Given the description of an element on the screen output the (x, y) to click on. 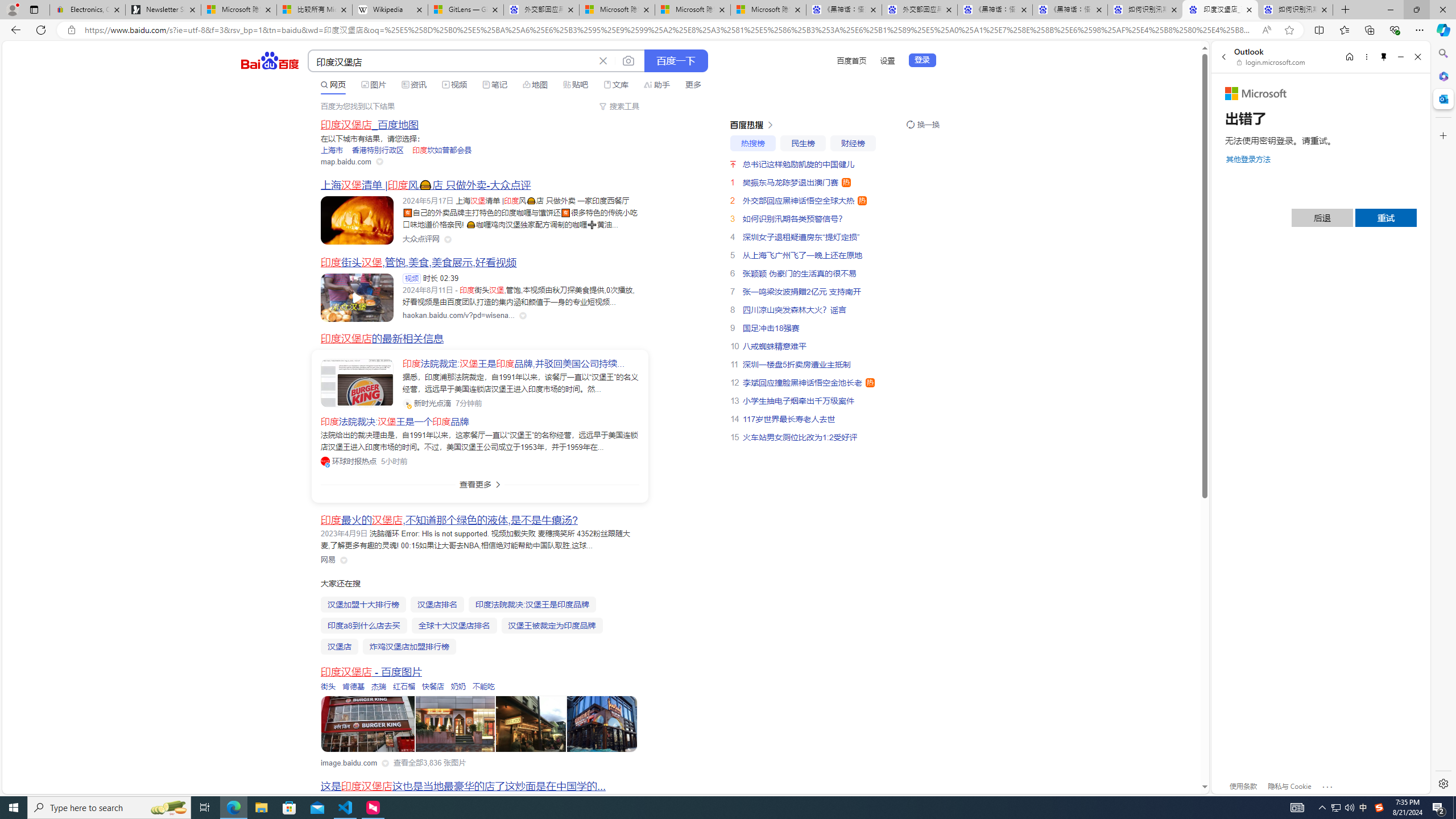
Class: c-img c-img-radius-large (356, 382)
